Given the description of an element on the screen output the (x, y) to click on. 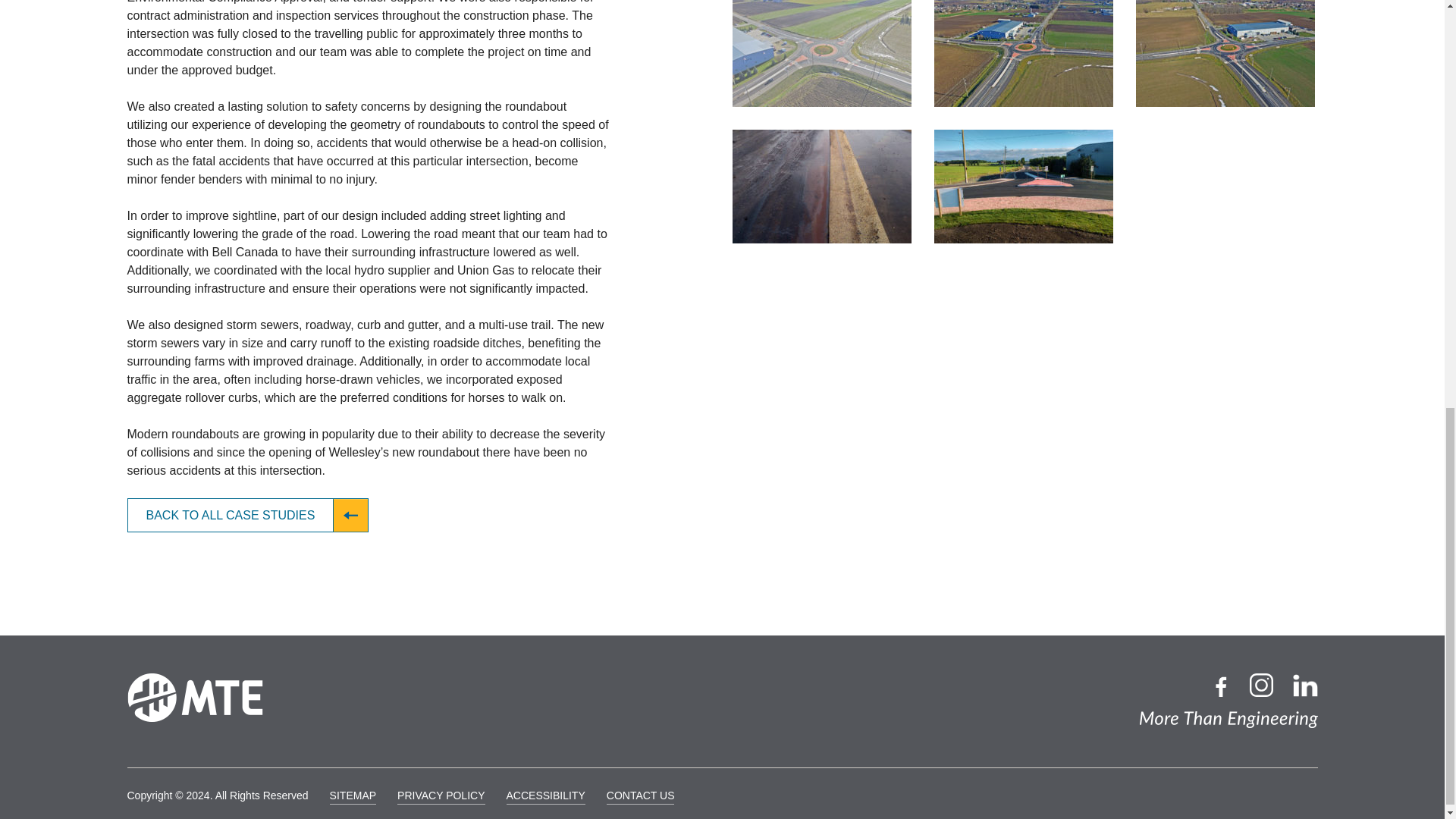
BACK TO ALL CASE STUDIES (248, 514)
ACCESSIBILITY (545, 796)
PRIVACY POLICY (440, 796)
SITEMAP (352, 796)
